Given the description of an element on the screen output the (x, y) to click on. 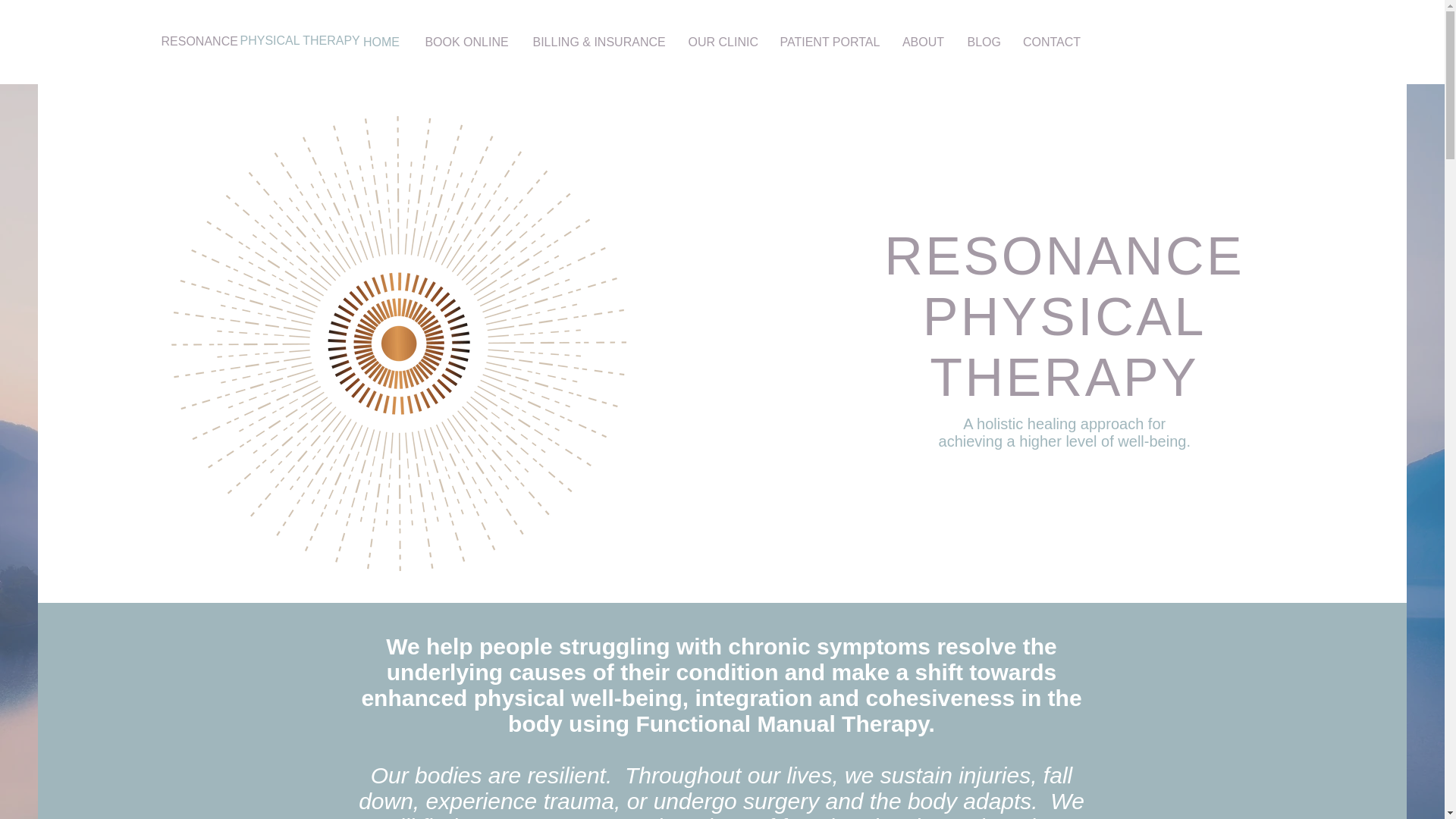
OUR CLINIC (722, 41)
BLOG (982, 41)
RESONANCE (198, 41)
CONTACT (1052, 41)
HOME (381, 41)
PATIENT PORTAL (829, 41)
PHYSICAL THERAPY (299, 41)
ABOUT (922, 41)
BOOK ONLINE (466, 41)
